Given the description of an element on the screen output the (x, y) to click on. 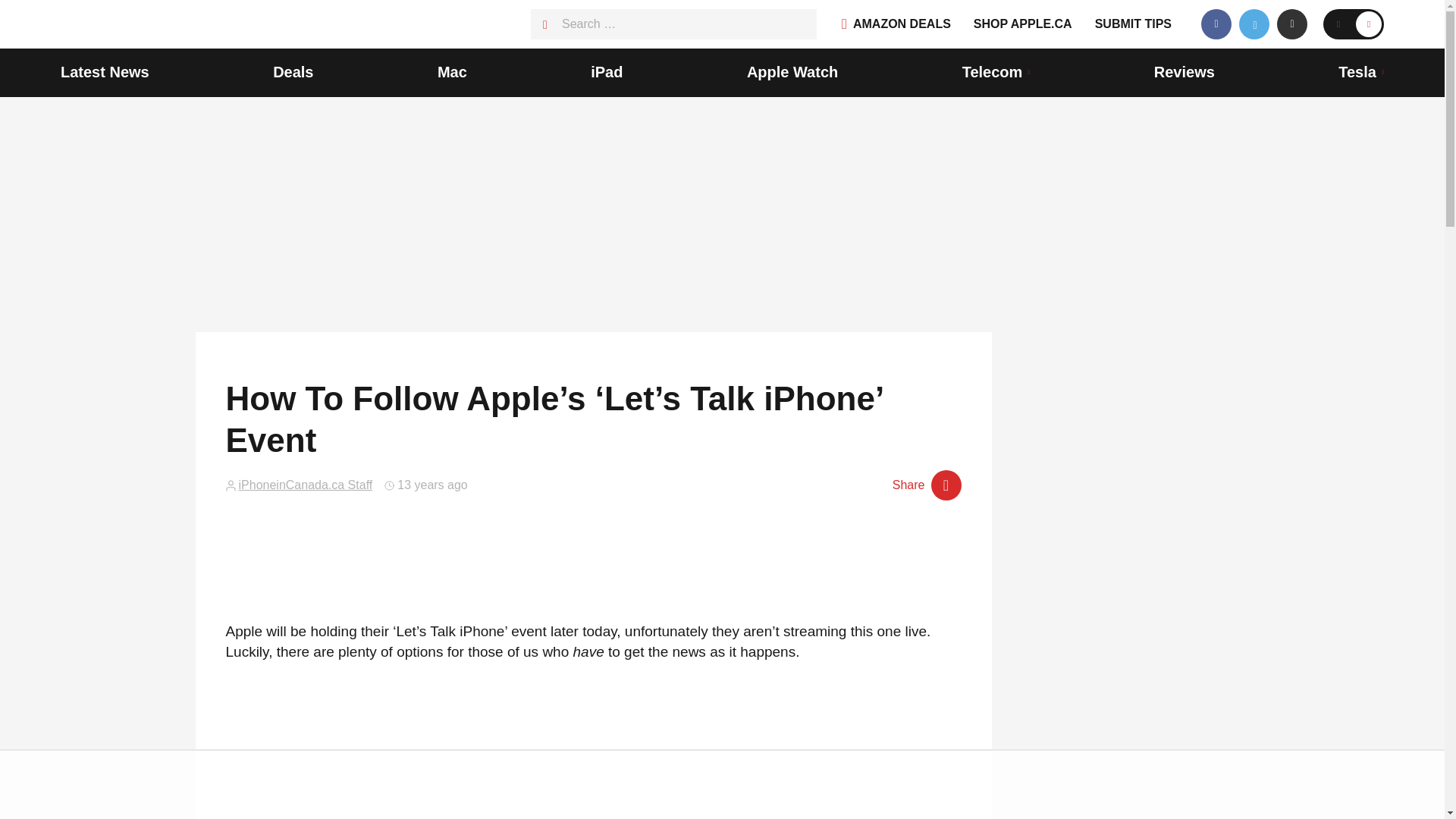
SUBMIT TIPS (1133, 23)
iPhoneinCanada.ca Staff (305, 484)
Reviews (1184, 72)
Apple Watch (792, 72)
Search for: (673, 24)
Latest News (105, 72)
Share (926, 485)
SHOP APPLE.CA (1022, 23)
AMAZON DEALS (895, 23)
